Given the description of an element on the screen output the (x, y) to click on. 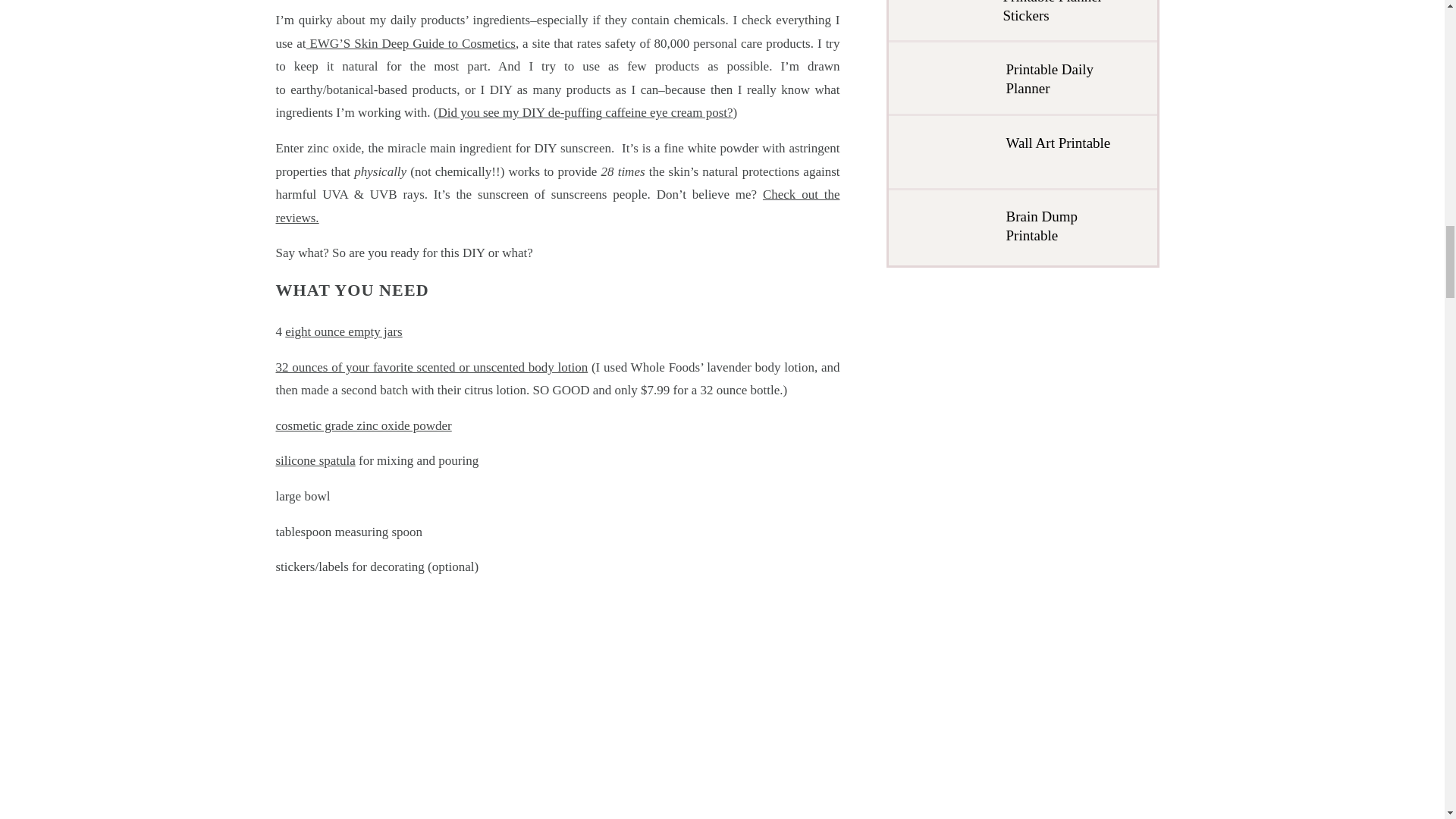
Printable Planner Stickers (1062, 12)
Wall Art Printable (1064, 152)
Printable Daily Planner (1065, 78)
Brain Dump Printable (1062, 226)
